Given the description of an element on the screen output the (x, y) to click on. 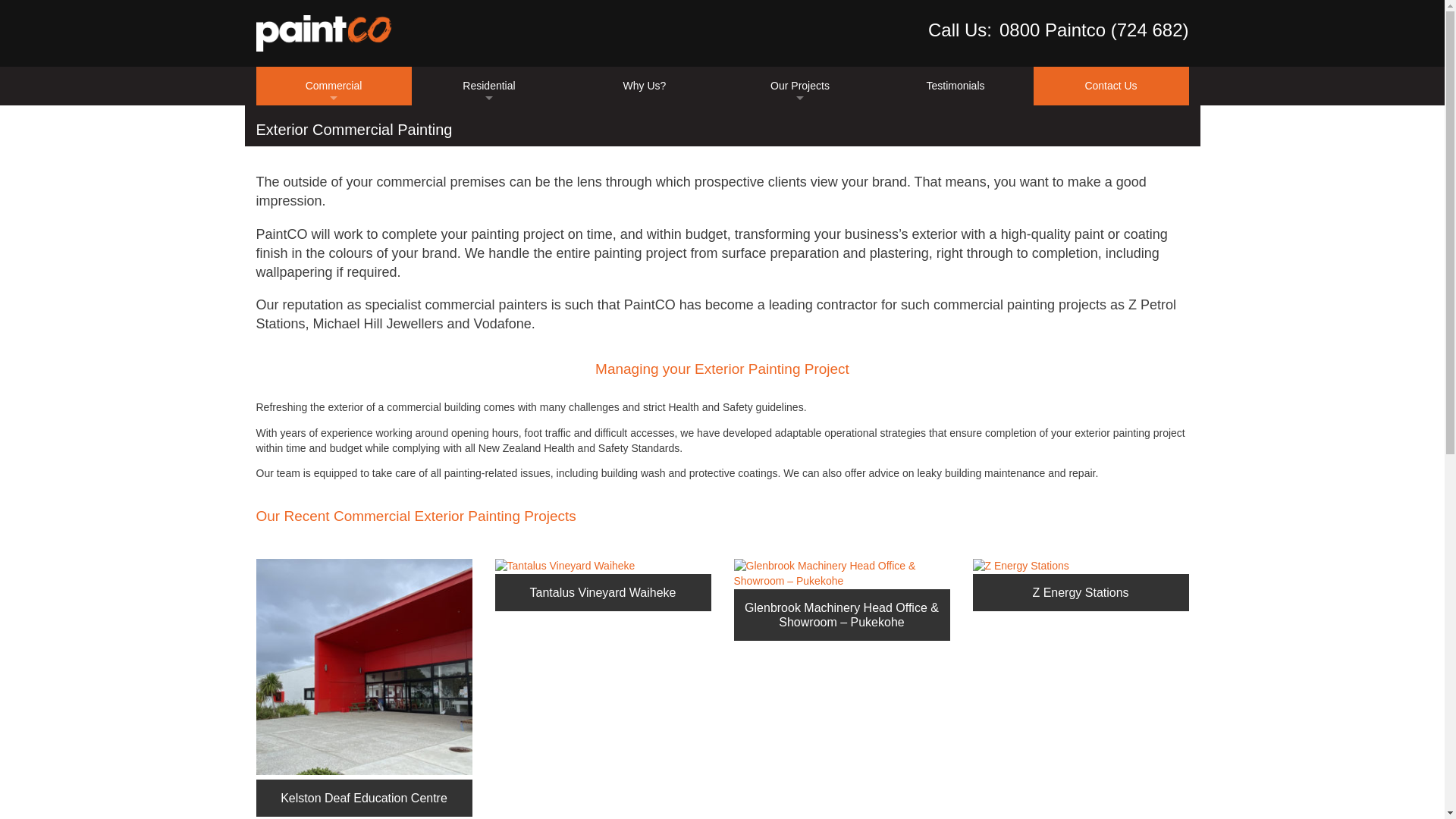
Z Energy Stations (1020, 566)
Why Us? (644, 86)
Our Projects (799, 86)
PaintCO (323, 33)
Kelston Deaf Education Centre (363, 666)
Commercial (334, 86)
Residential (488, 86)
Z Energy Stations (1080, 584)
Tantalus Vineyard Waiheke (564, 566)
Testimonials (955, 86)
